Given the description of an element on the screen output the (x, y) to click on. 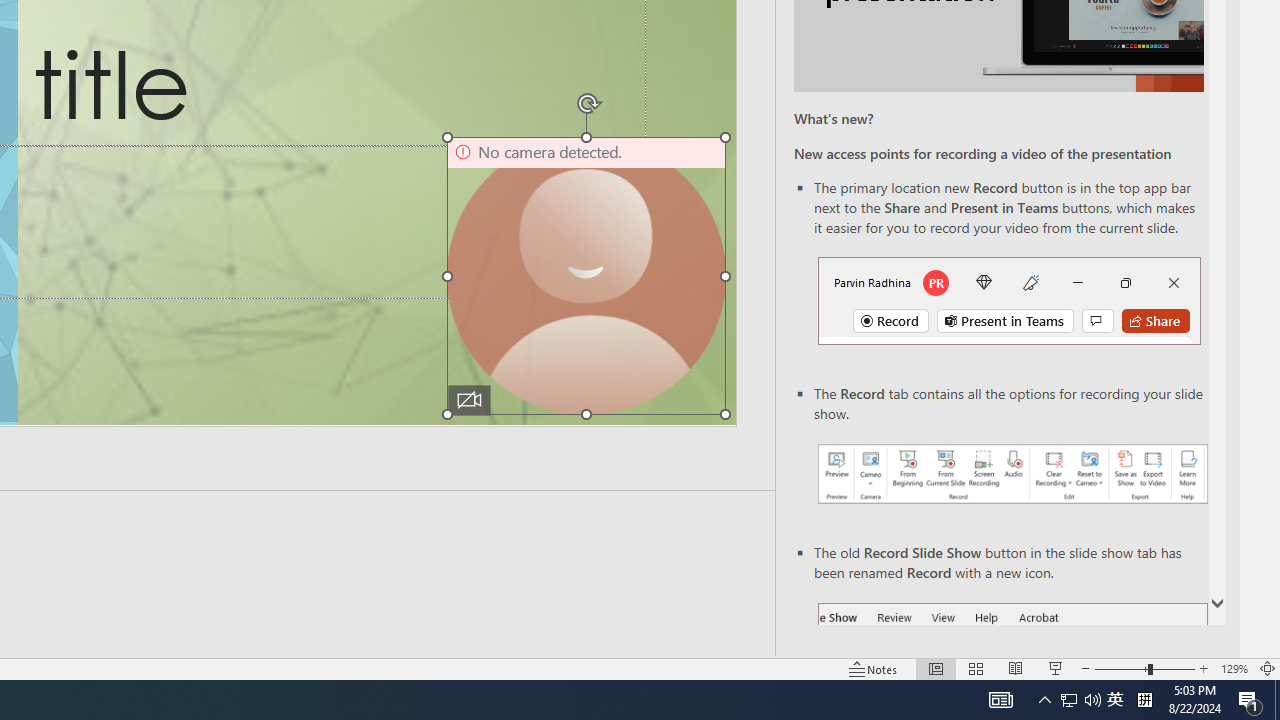
Camera 9, No camera detected. (586, 275)
Record button in top bar (1008, 300)
Record your presentations screenshot one (1012, 473)
Zoom 129% (1234, 668)
